Given the description of an element on the screen output the (x, y) to click on. 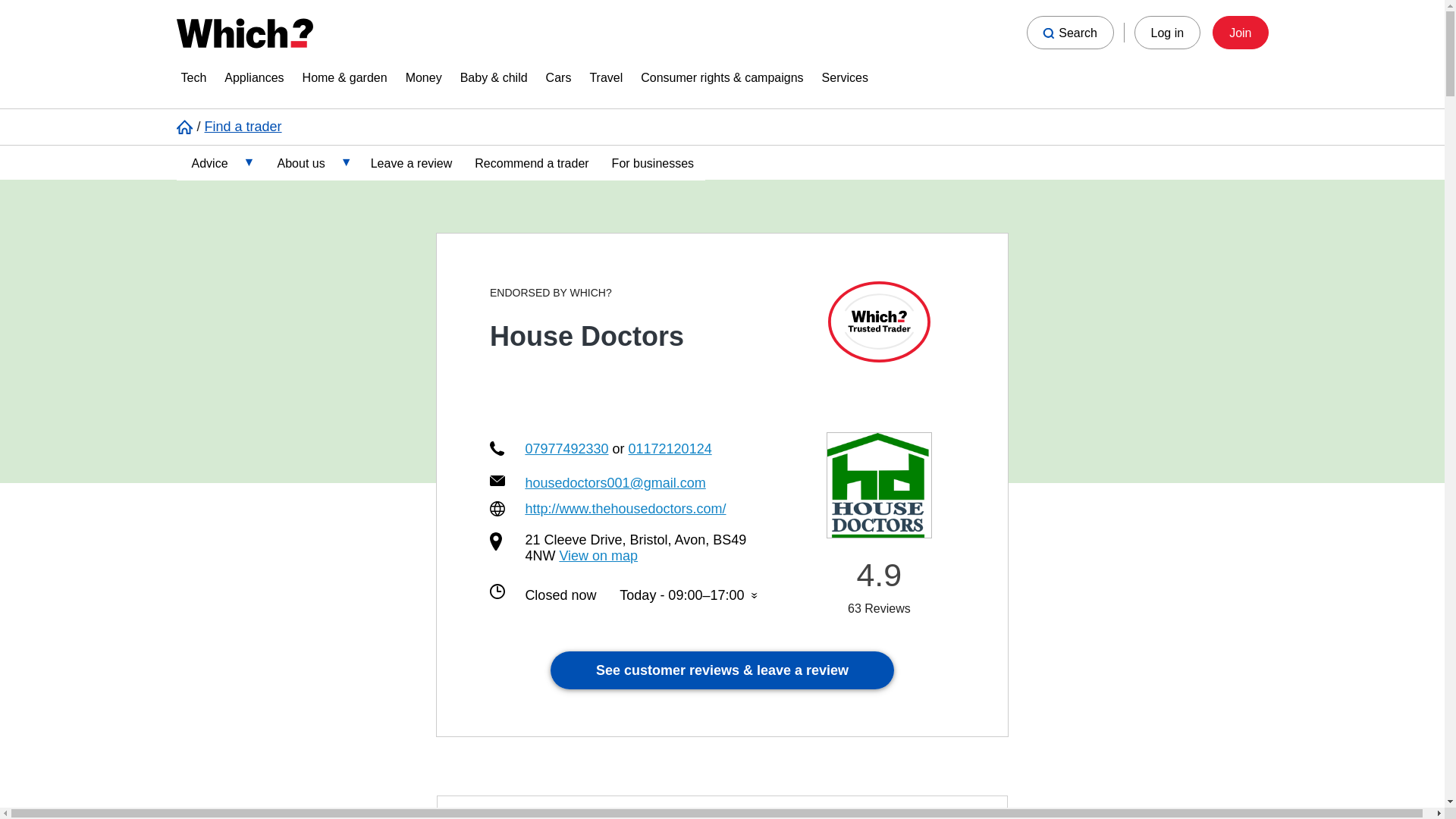
Join (1240, 32)
Log in (1167, 32)
Tech (193, 79)
Click to see all opening hours (689, 595)
Search (1069, 32)
